Given the description of an element on the screen output the (x, y) to click on. 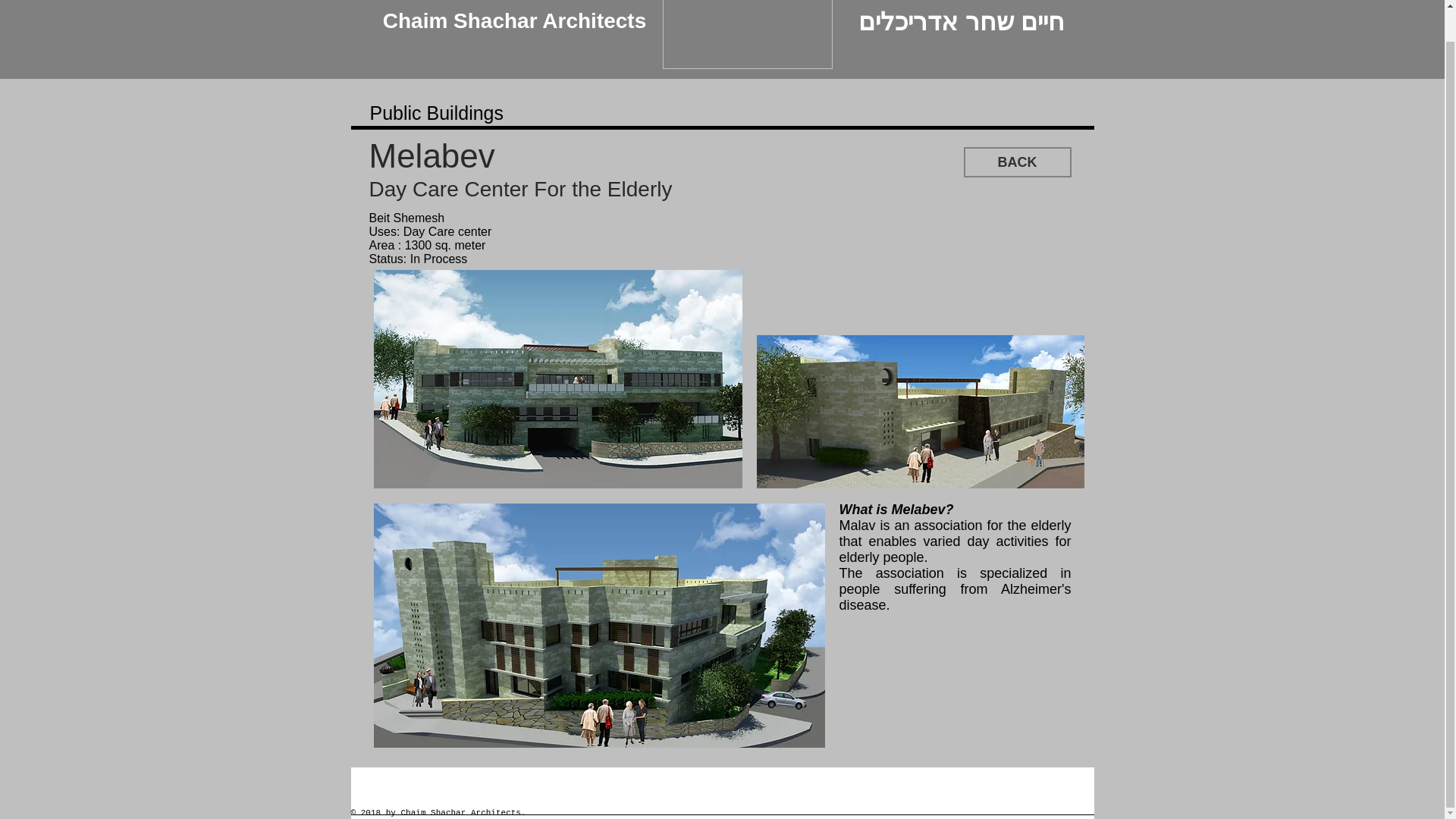
Chaim Shachar Architects (514, 14)
Chaim Shachar Architects (514, 22)
BACK (1016, 162)
